Given the description of an element on the screen output the (x, y) to click on. 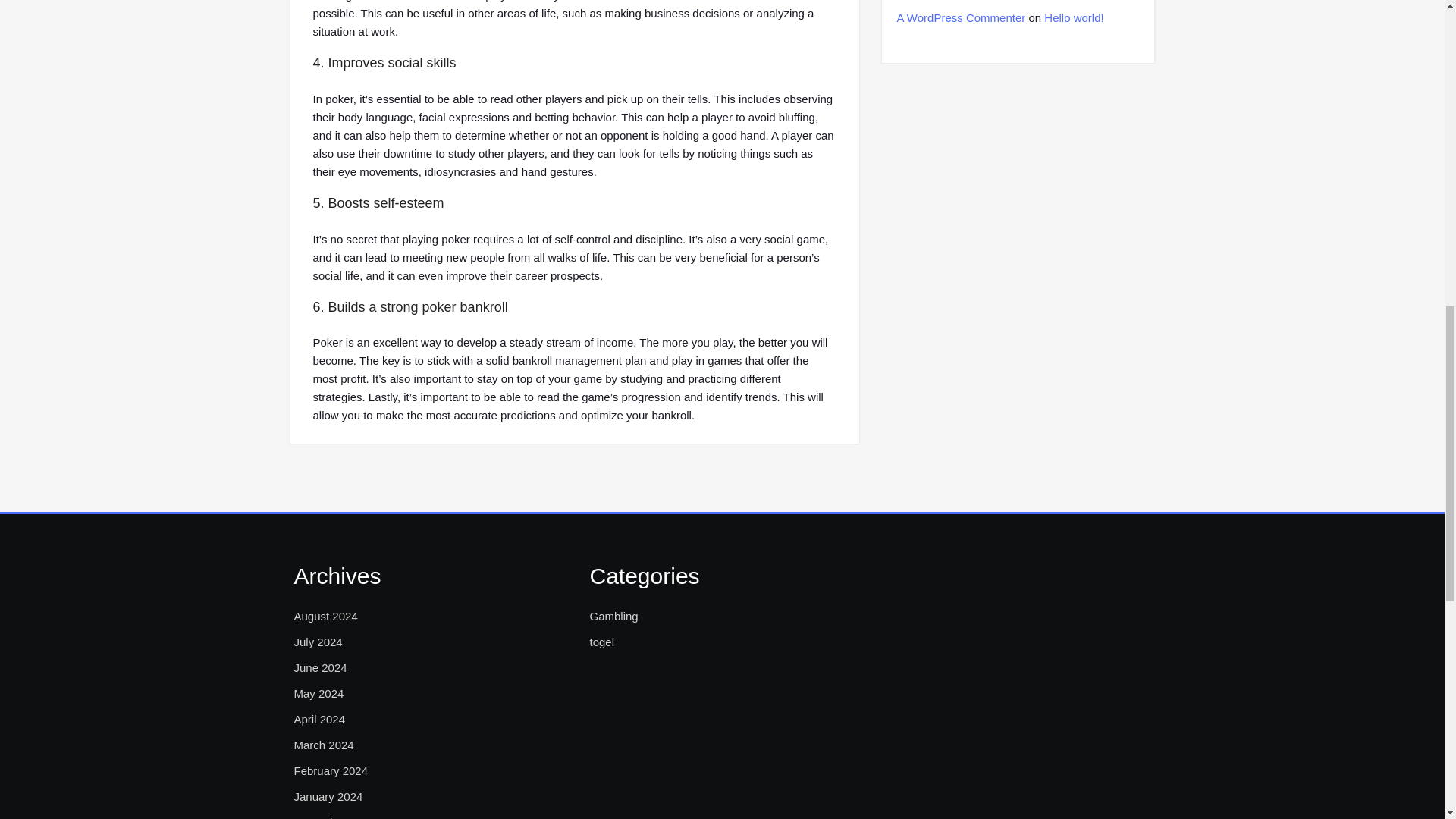
April 2024 (320, 719)
July 2024 (318, 642)
A WordPress Commenter (960, 17)
December 2023 (334, 816)
May 2024 (318, 693)
June 2024 (320, 668)
March 2024 (323, 745)
August 2024 (326, 616)
February 2024 (331, 771)
January 2024 (328, 796)
